Given the description of an element on the screen output the (x, y) to click on. 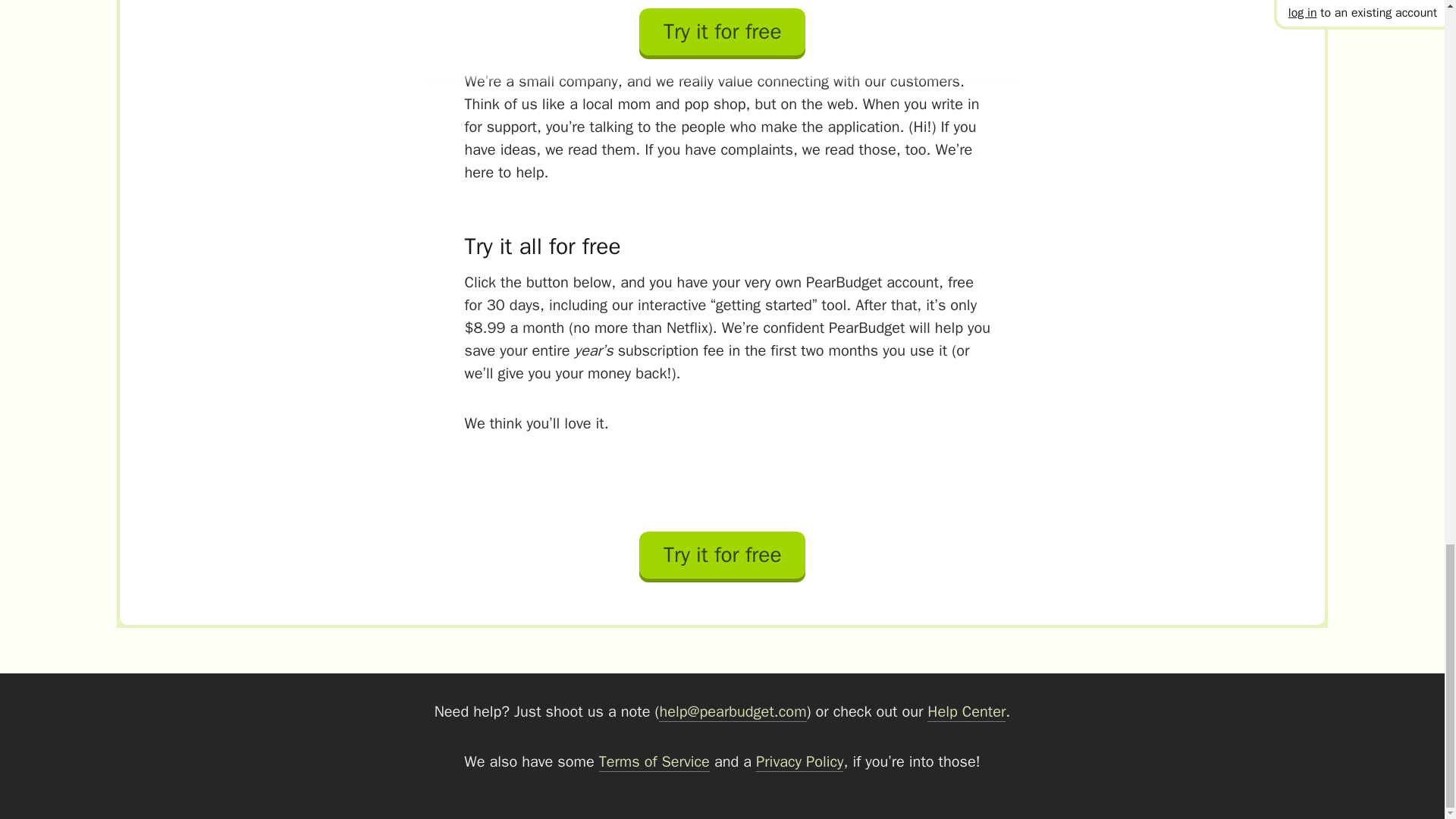
Privacy Policy (799, 762)
Try it for free (722, 558)
Terms of Service (654, 762)
Help Center (966, 711)
